Given the description of an element on the screen output the (x, y) to click on. 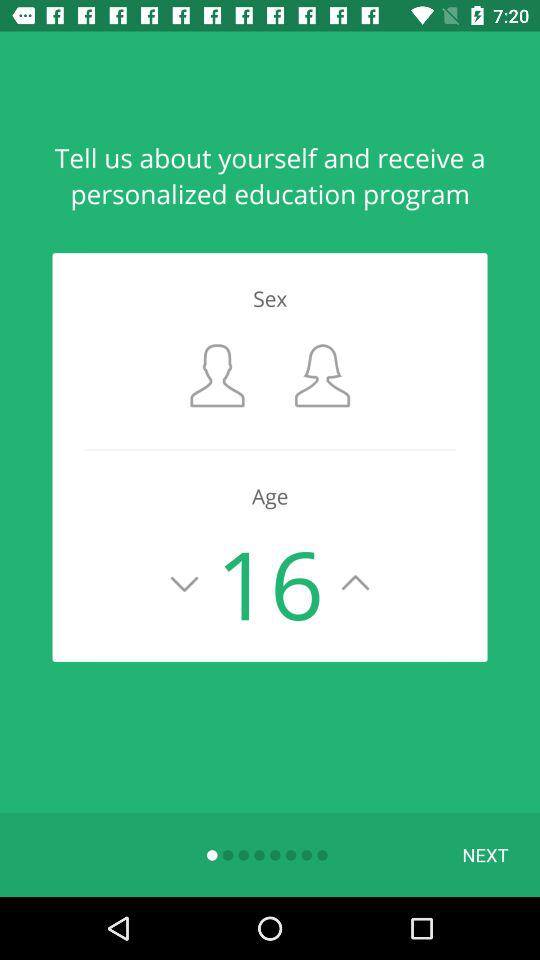
select the gender (217, 375)
